Given the description of an element on the screen output the (x, y) to click on. 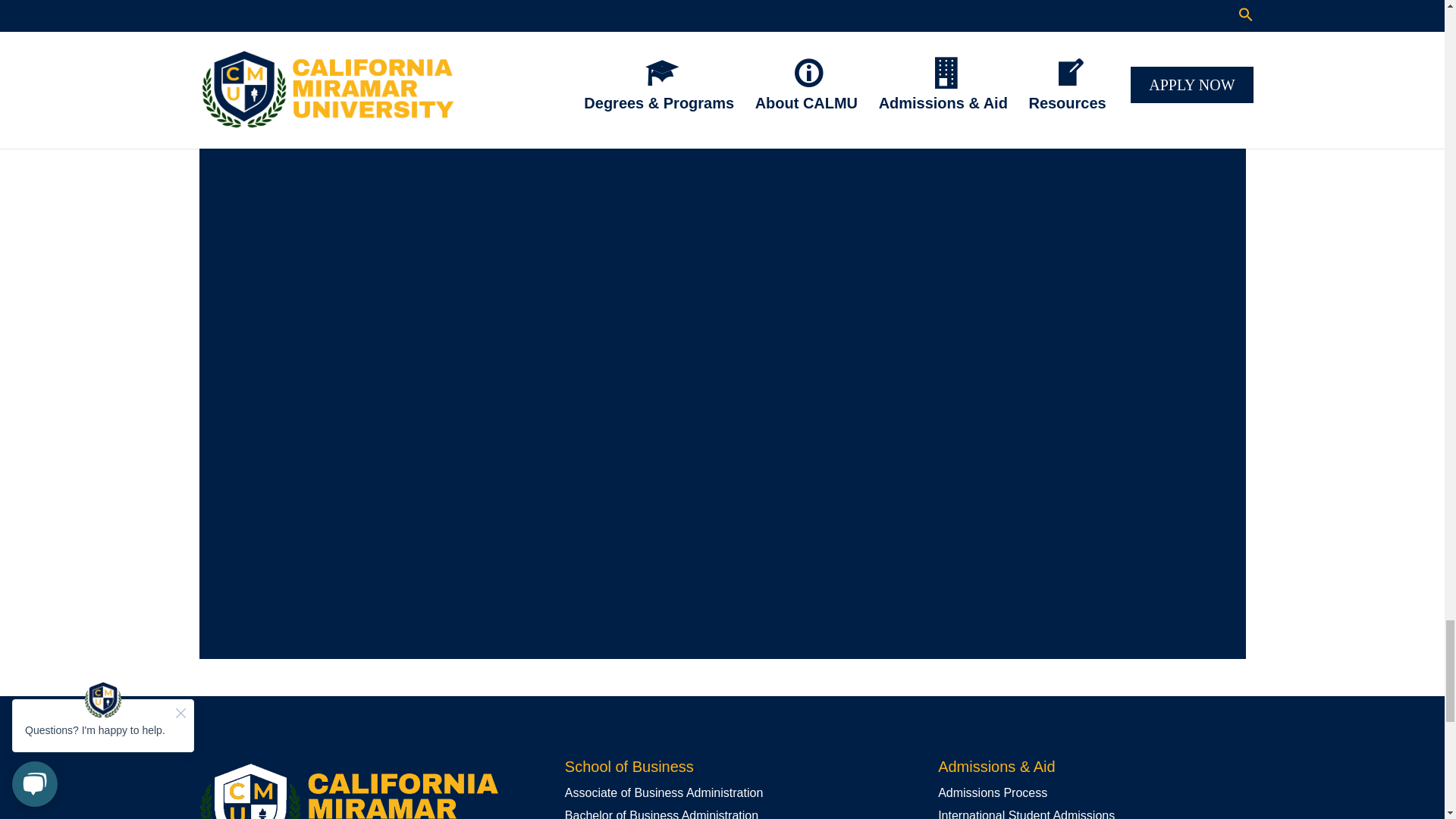
CMU LOGO (347, 789)
